Given the description of an element on the screen output the (x, y) to click on. 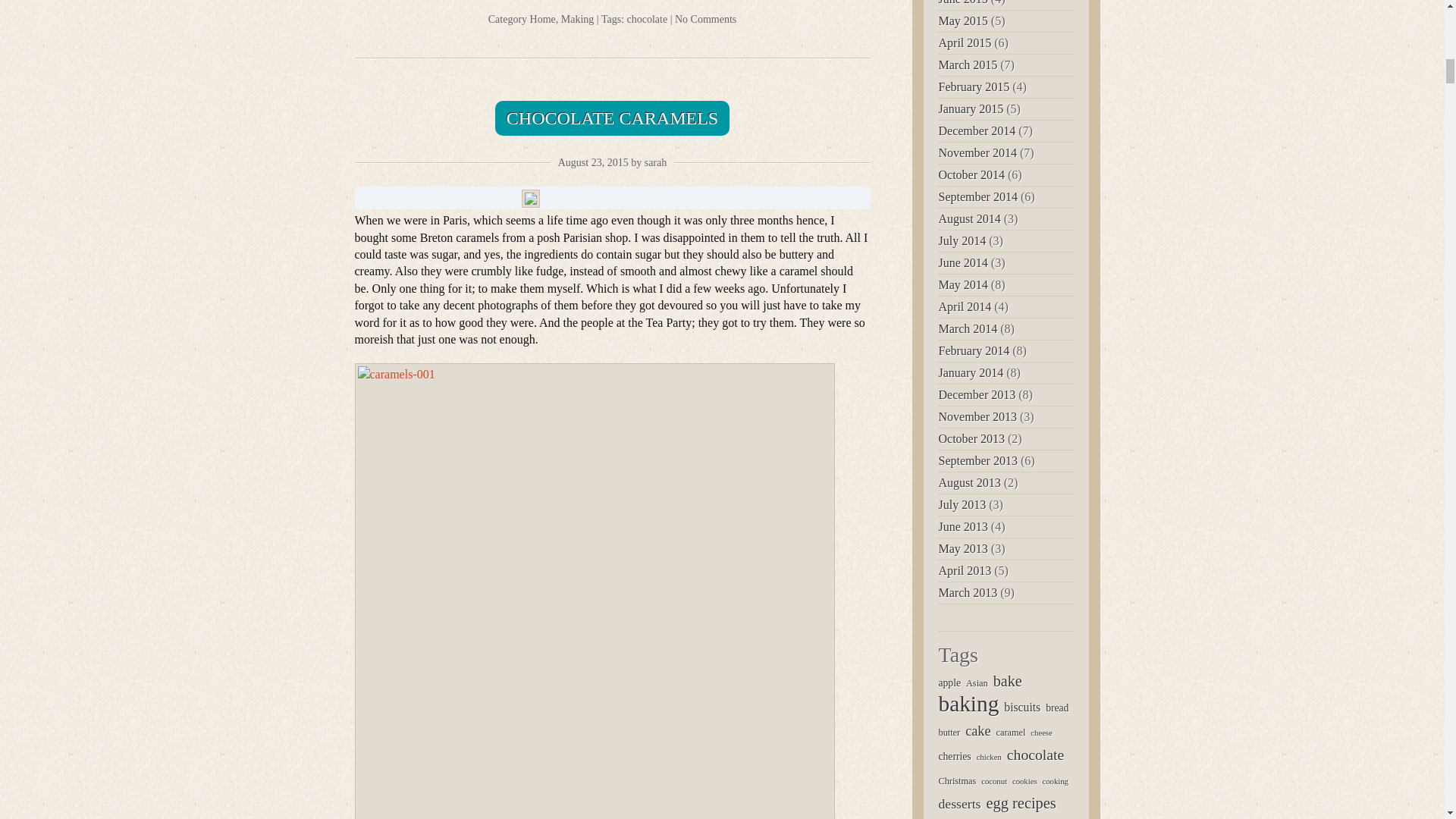
CHOCOLATE CARAMELS (612, 117)
chocolate (647, 19)
Making (577, 19)
Home (542, 19)
No Comments (705, 19)
